Given the description of an element on the screen output the (x, y) to click on. 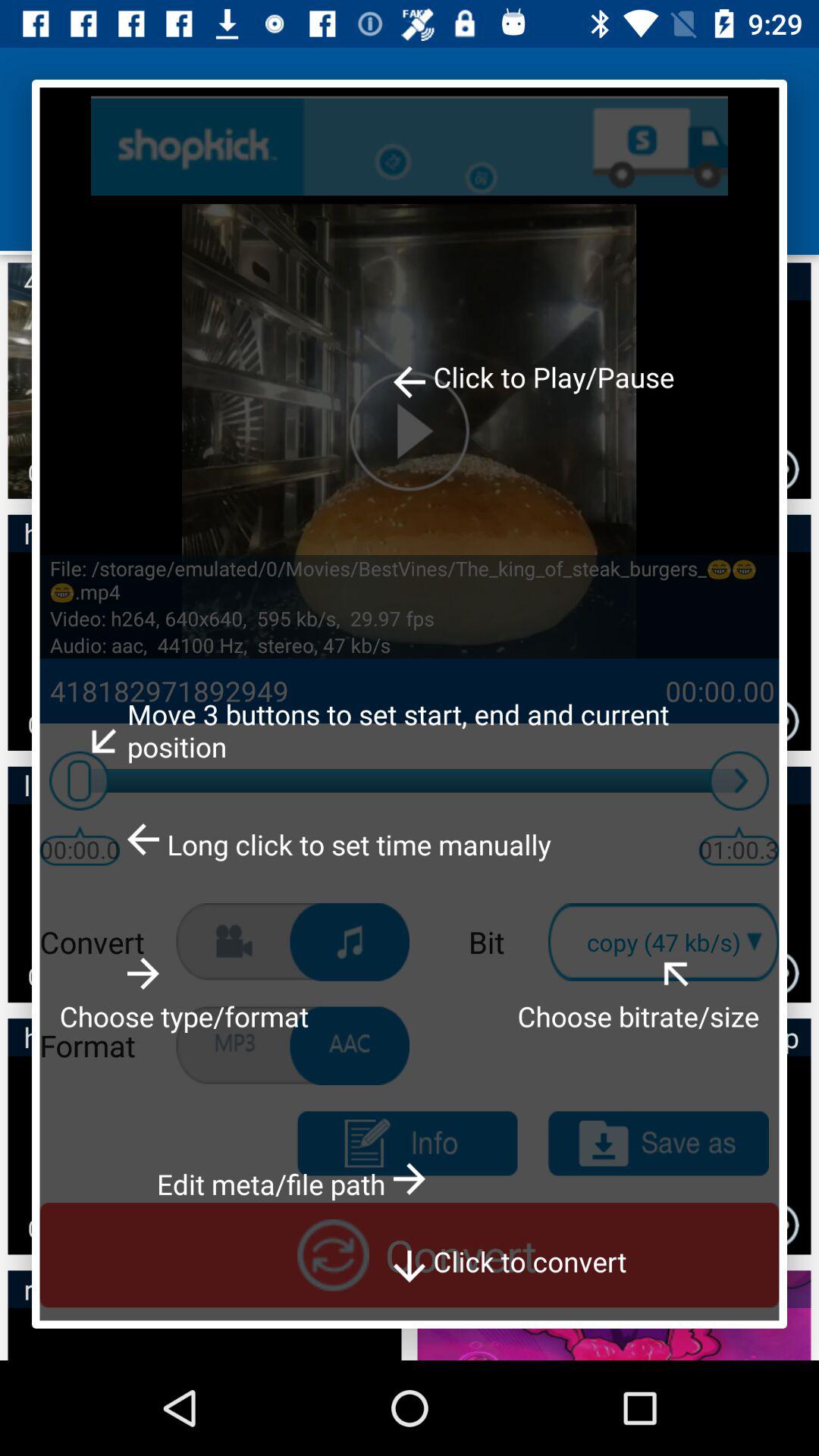
choose format option (349, 942)
